Given the description of an element on the screen output the (x, y) to click on. 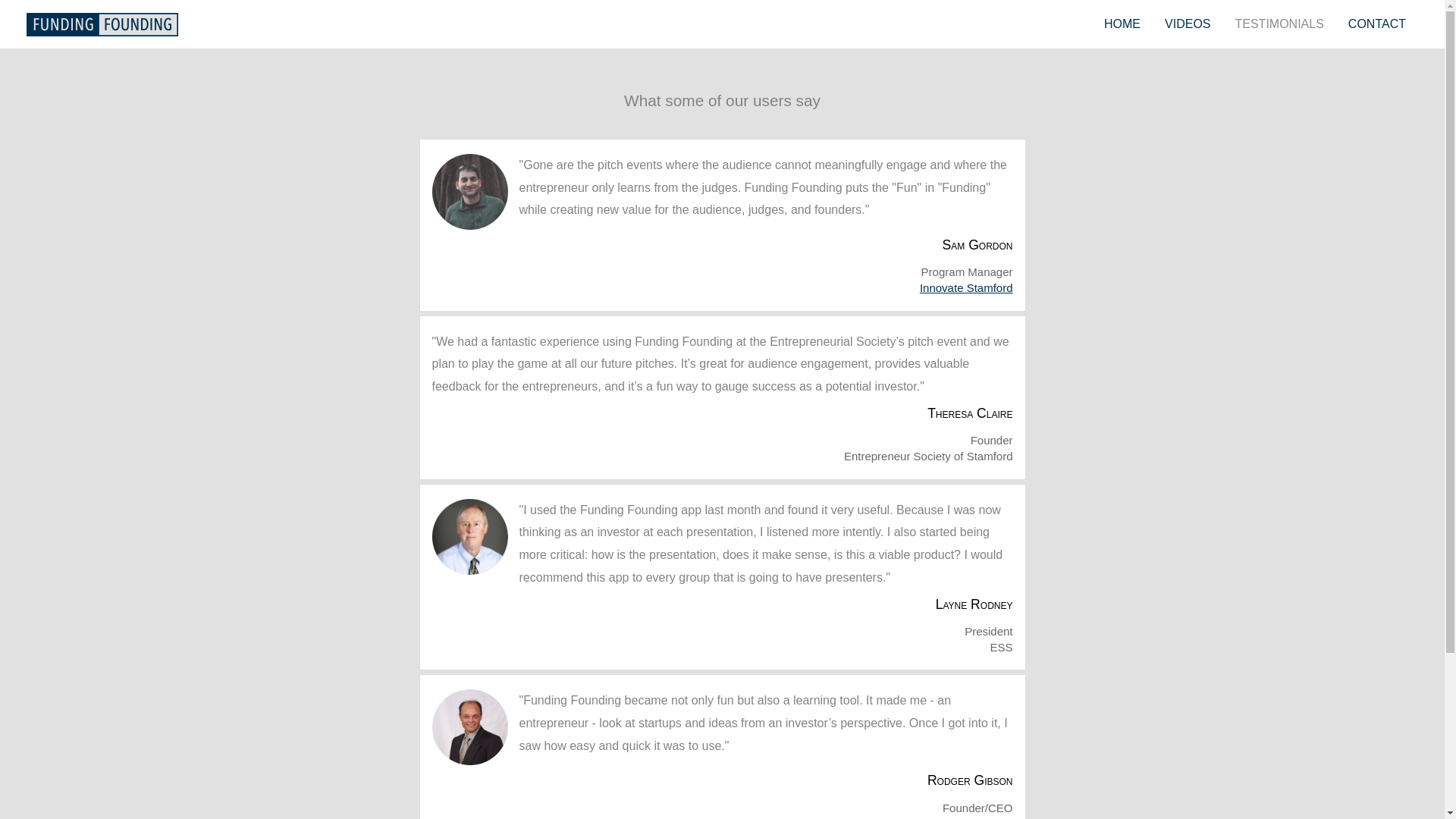
TESTIMONIALS (1279, 24)
CONTACT (1377, 24)
HOME (1122, 24)
Innovate Stamford (966, 287)
Airbornway Corporation (953, 818)
VIDEOS (1188, 24)
